Given the description of an element on the screen output the (x, y) to click on. 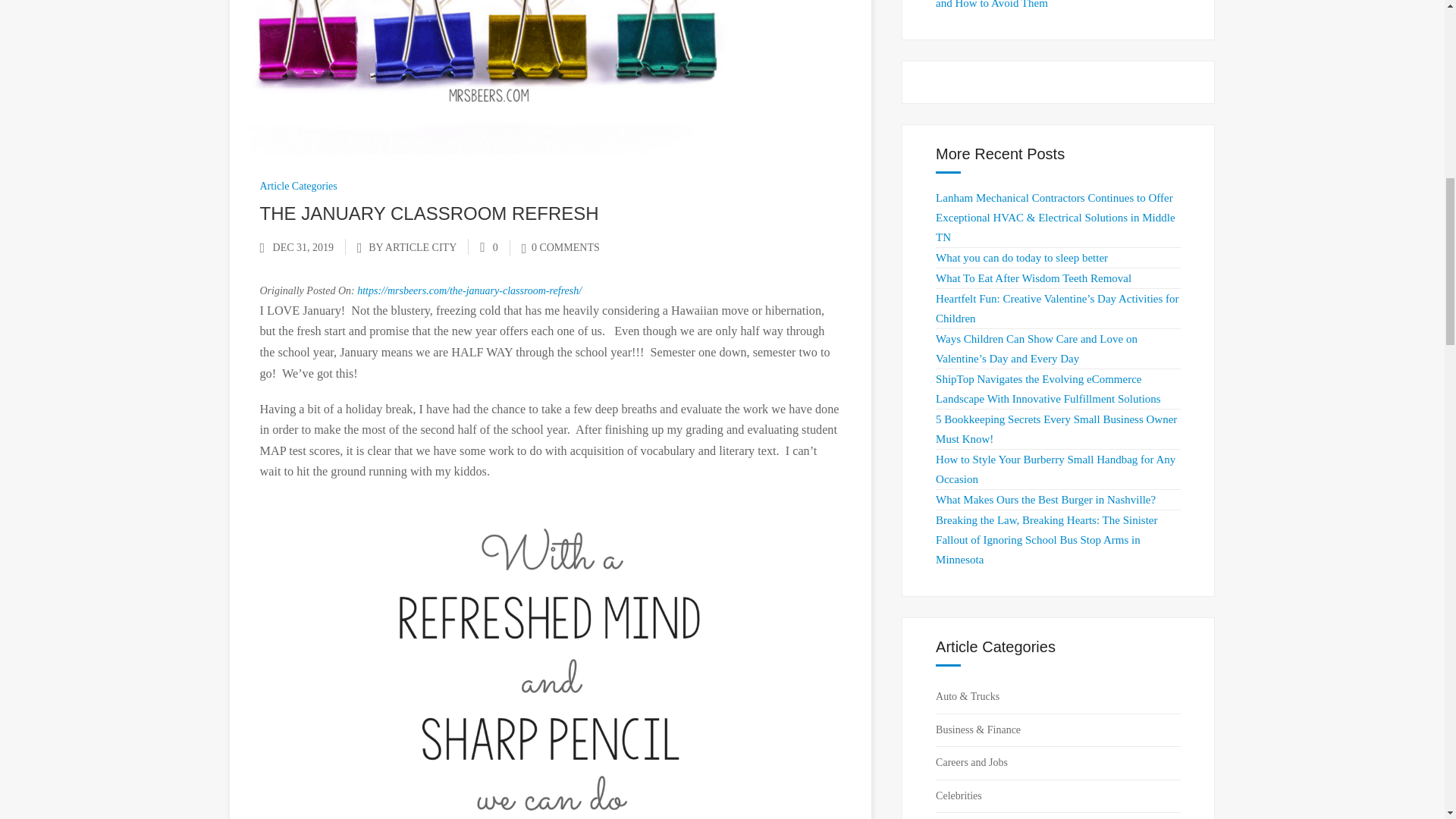
Article Categories (297, 185)
What you can do today to sleep better (1022, 257)
BY ARTICLE CITY (412, 247)
0 (488, 247)
Like this (488, 247)
0 COMMENTS (560, 247)
What To Eat After Wisdom Teeth Removal (1033, 277)
